Given the description of an element on the screen output the (x, y) to click on. 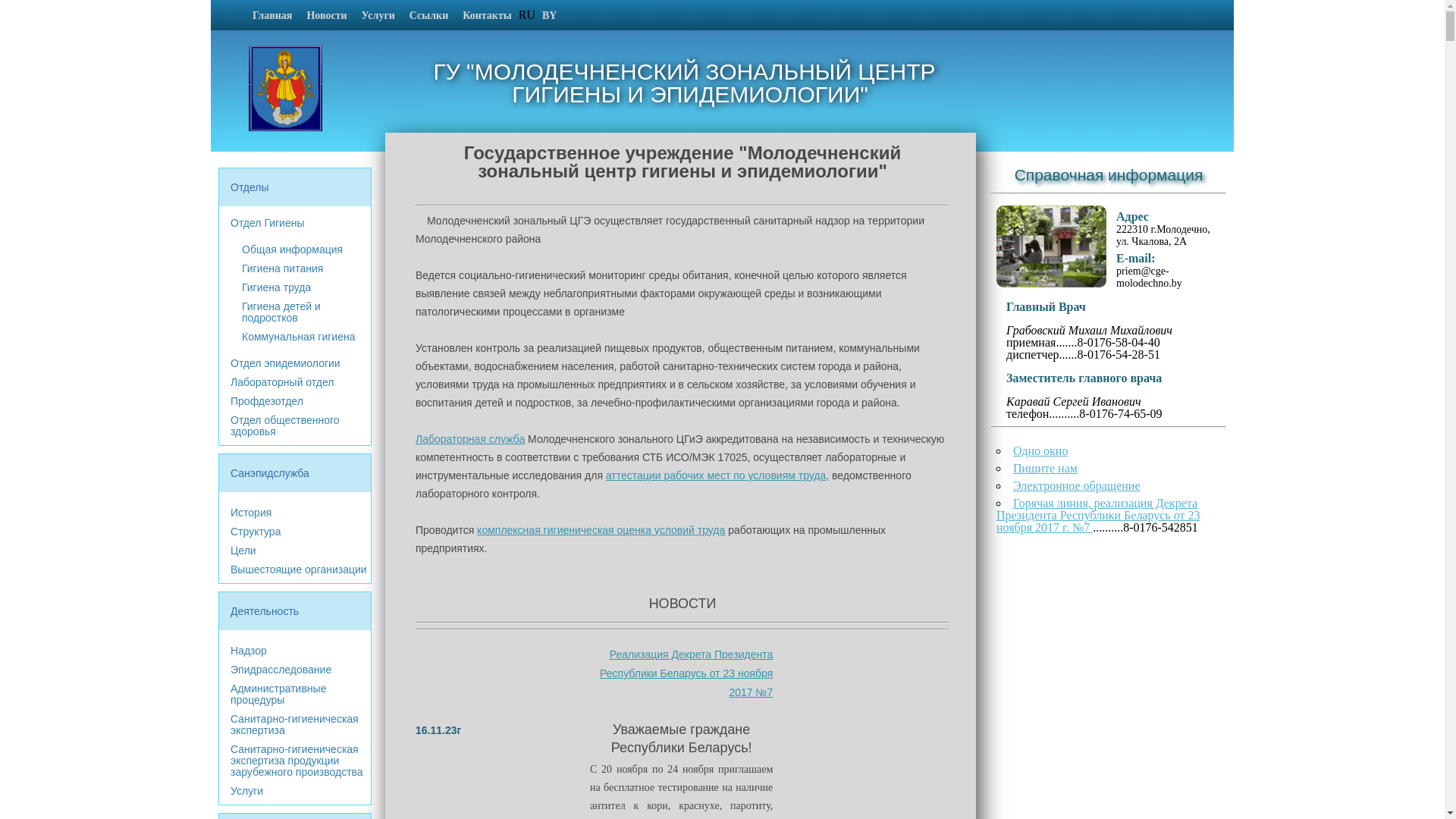
BY Element type: text (549, 15)
